Given the description of an element on the screen output the (x, y) to click on. 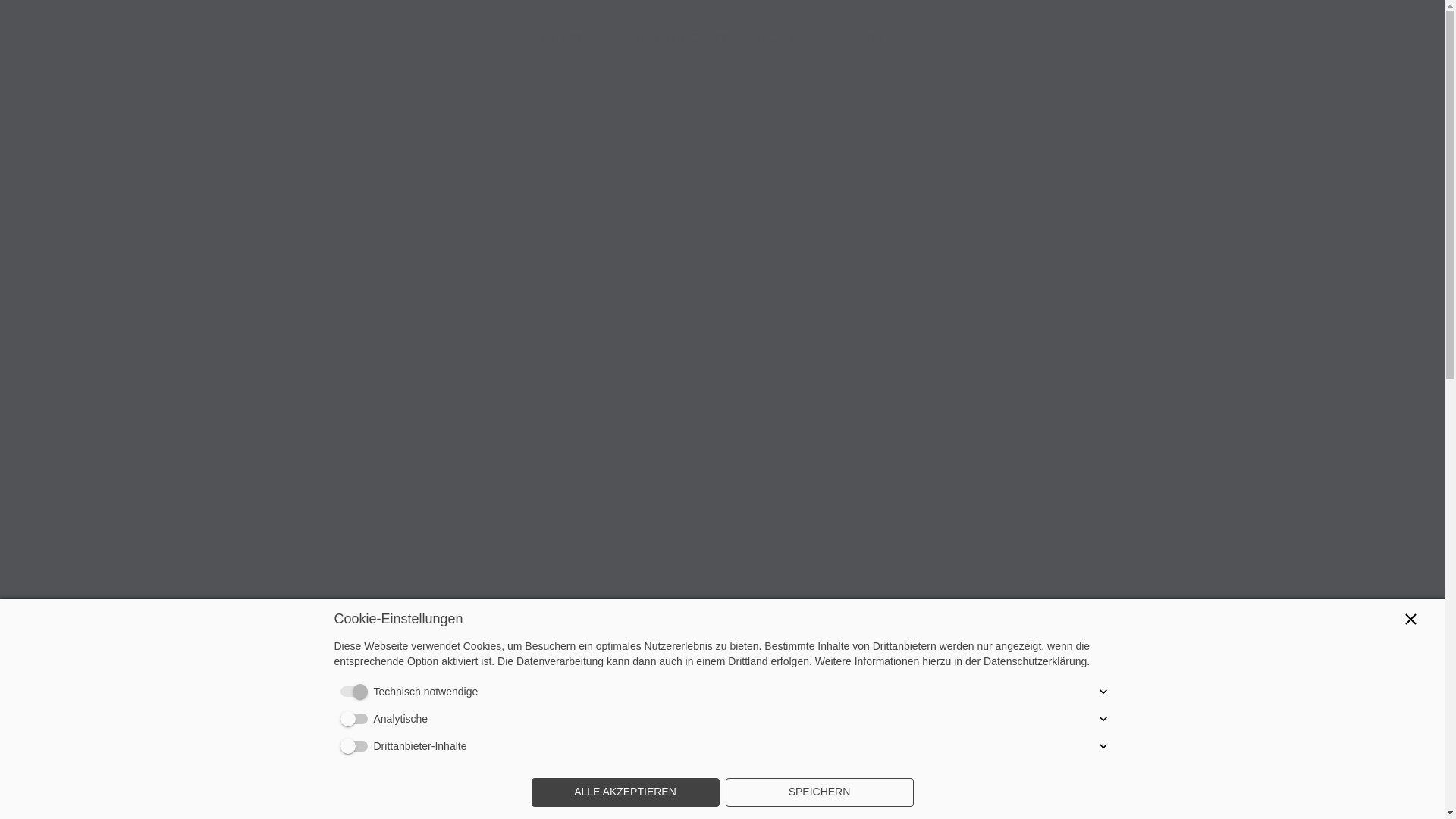
SPEICHERN Element type: text (818, 792)
DATENSCHUTZ / RECHTLICHE HINWEISE Element type: text (773, 42)
ALLE AKZEPTIEREN Element type: text (624, 792)
STARTSEITE Element type: text (572, 42)
